Given the description of an element on the screen output the (x, y) to click on. 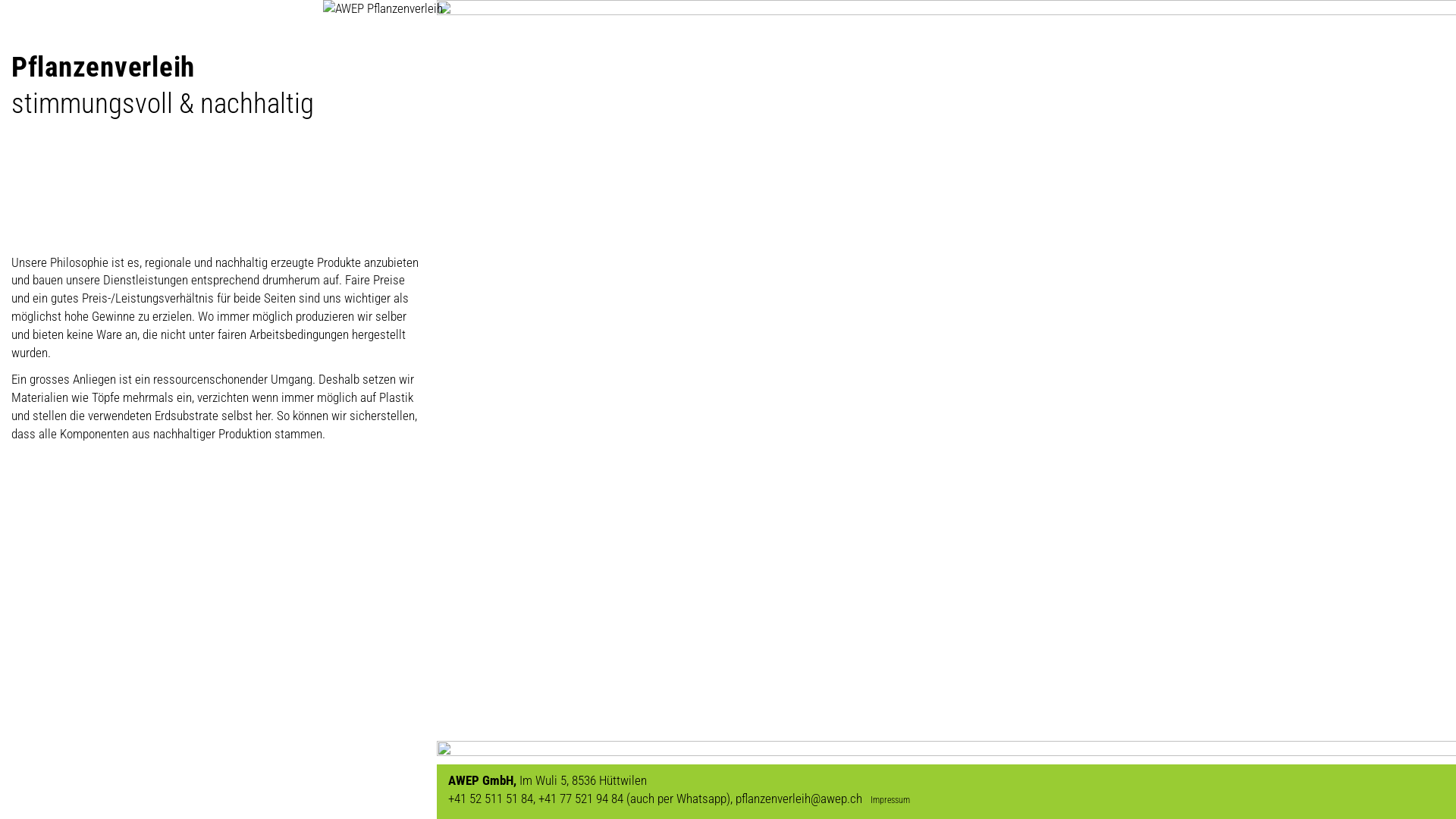
Impressum Element type: text (889, 799)
pflanzenverleih@awep.ch   Element type: text (801, 798)
